Given the description of an element on the screen output the (x, y) to click on. 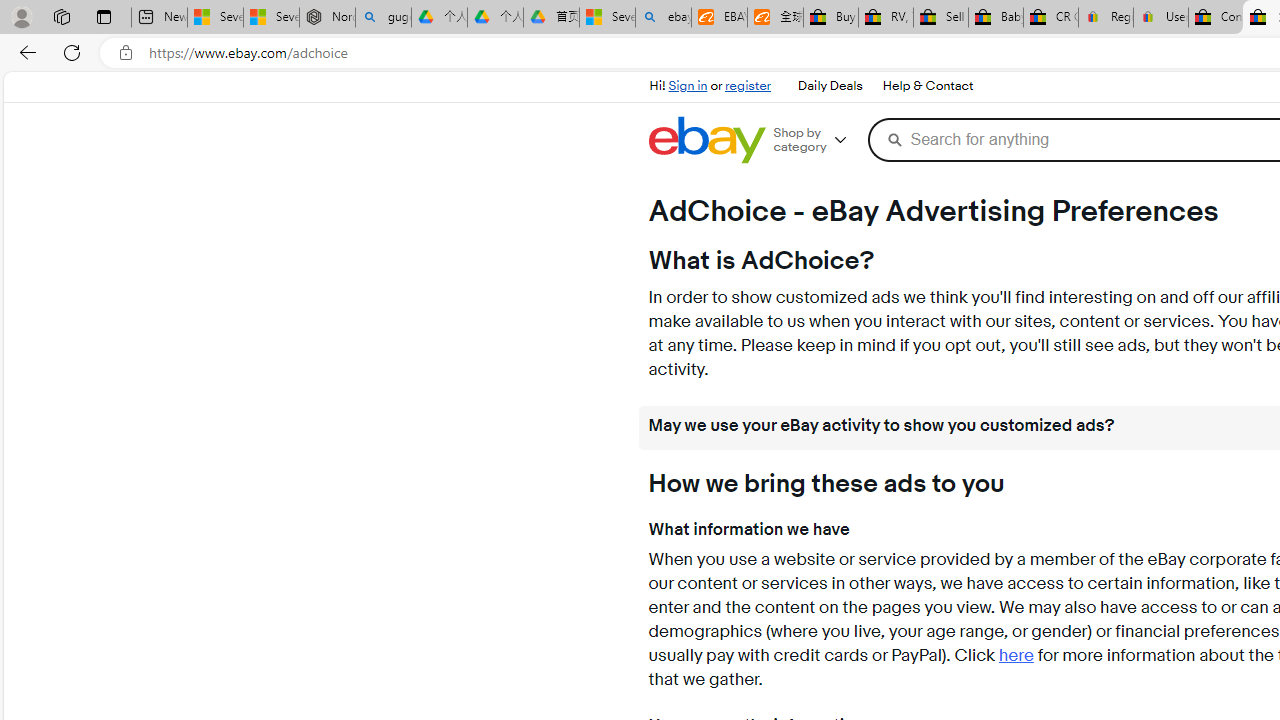
eBay Home (706, 139)
eBay Home (706, 139)
Daily Deals (829, 86)
Consumer Health Data Privacy Policy - eBay Inc. (1215, 17)
Help & Contact (927, 86)
Sign in (687, 85)
Register: Create a personal eBay account (1105, 17)
